Given the description of an element on the screen output the (x, y) to click on. 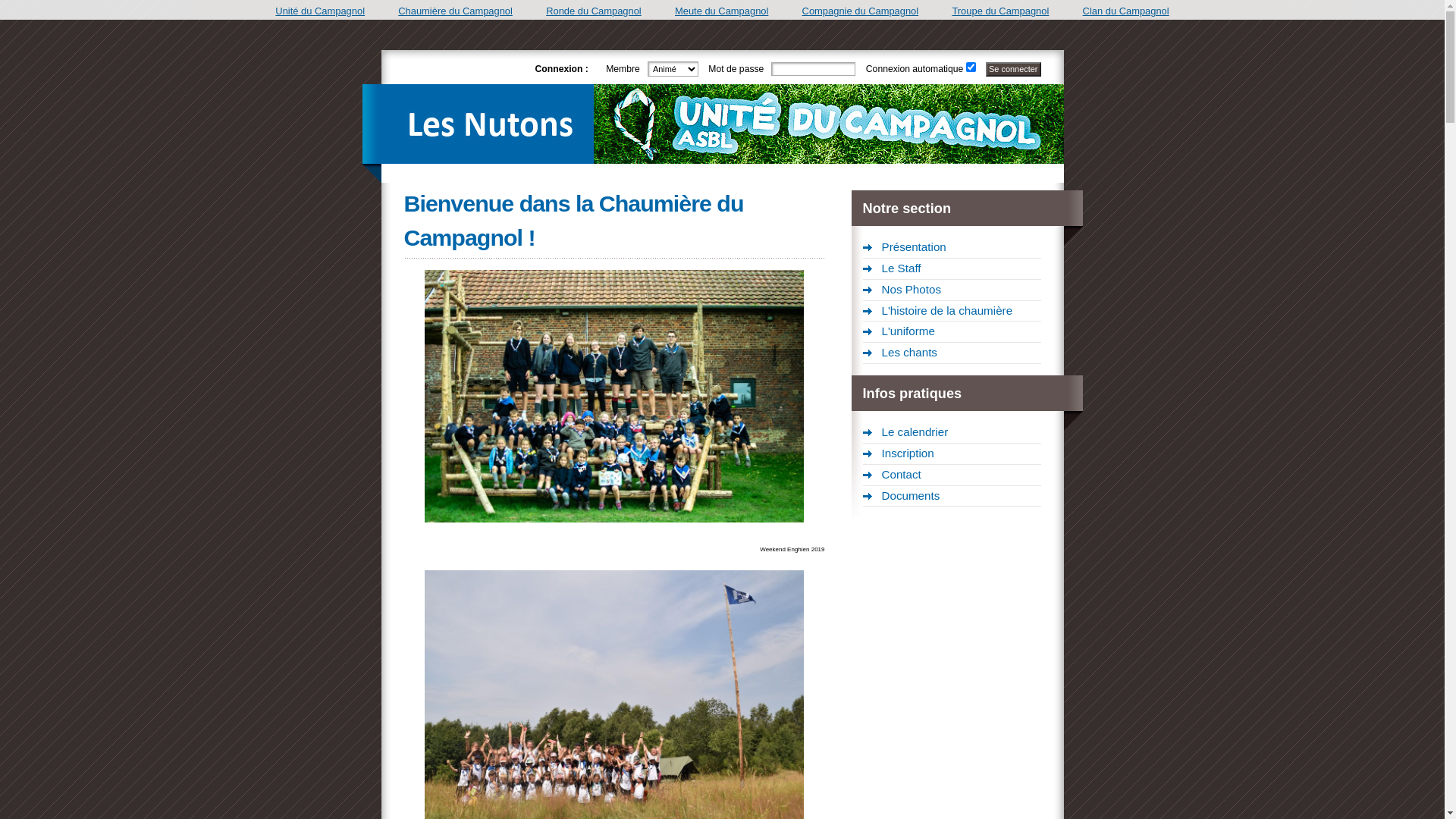
Le Staff Element type: text (951, 268)
Contact Element type: text (951, 475)
Le calendrier Element type: text (951, 432)
Compagnie du Campagnol Element type: text (860, 10)
Les chants Element type: text (951, 353)
Nos Photos Element type: text (951, 290)
Troupe du Campagnol Element type: text (999, 10)
L'uniforme Element type: text (951, 331)
Clan du Campagnol Element type: text (1125, 10)
Se connecter Element type: text (1012, 69)
Meute du Campagnol Element type: text (721, 10)
Ronde du Campagnol Element type: text (593, 10)
Documents Element type: text (951, 496)
Inscription Element type: text (951, 453)
